Given the description of an element on the screen output the (x, y) to click on. 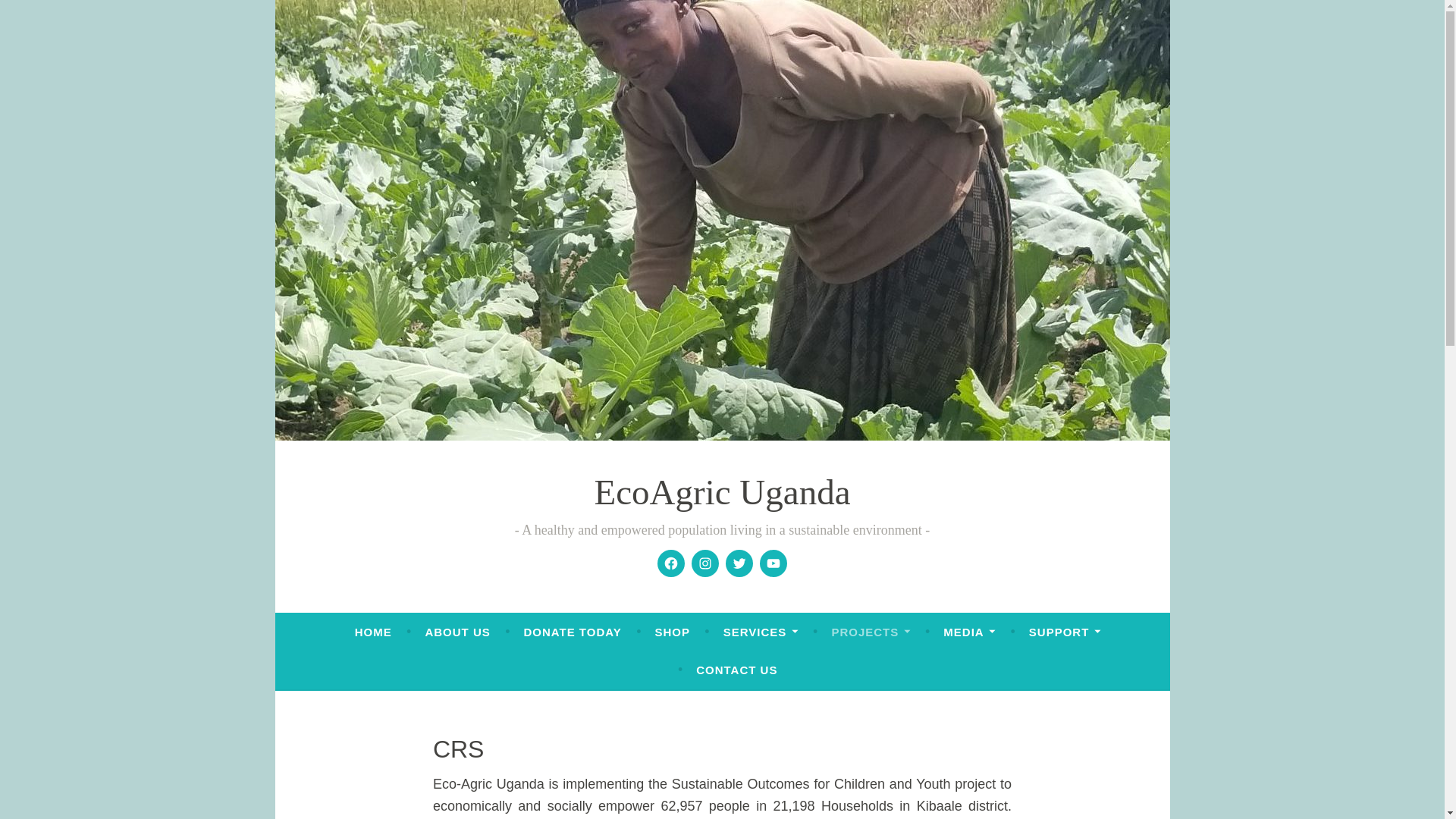
SUPPORT (1064, 632)
YouTube channel (772, 563)
SERVICES (760, 632)
Facebook page (670, 563)
SHOP (671, 632)
Instagram page (705, 563)
Twitter profile (739, 563)
HOME (373, 632)
DONATE TODAY (571, 632)
PROJECTS (870, 632)
EcoAgric Uganda (722, 491)
ABOUT US (457, 632)
MEDIA (969, 632)
